Given the description of an element on the screen output the (x, y) to click on. 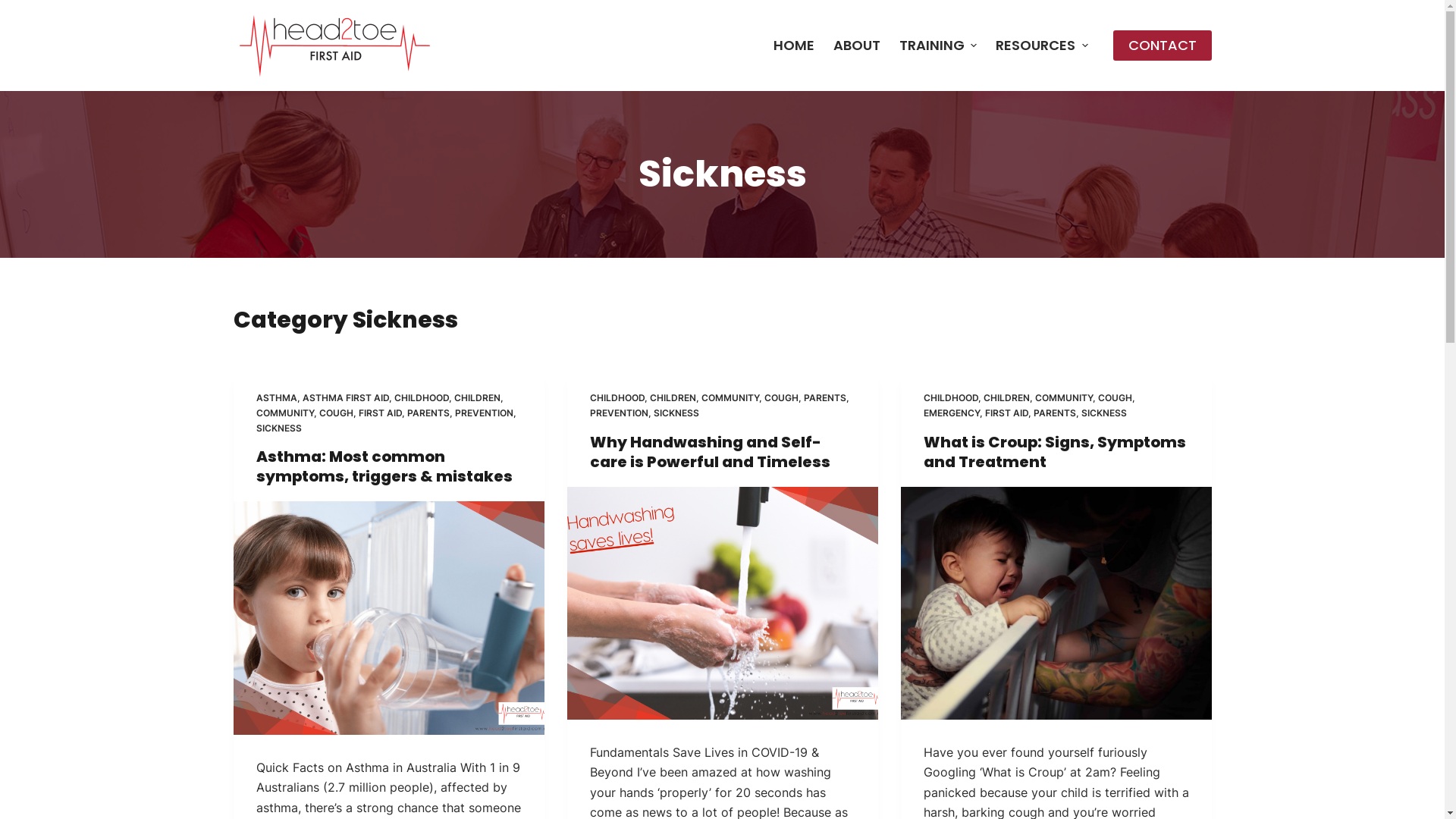
CONTACT Element type: text (1162, 45)
What is Croup: Signs, Symptoms and Treatment Element type: text (1054, 451)
Why Handwashing and Self-care is Powerful and Timeless Element type: text (709, 451)
Asthma: Most common symptoms, triggers & mistakes Element type: text (384, 465)
CHILDHOOD Element type: text (616, 397)
CHILDREN Element type: text (672, 397)
CHILDREN Element type: text (1005, 397)
SICKNESS Element type: text (676, 412)
CHILDREN Element type: text (476, 397)
PREVENTION Element type: text (484, 412)
SICKNESS Element type: text (1103, 412)
TRAINING Element type: text (937, 45)
COMMUNITY Element type: text (729, 397)
PARENTS Element type: text (427, 412)
PARENTS Element type: text (1053, 412)
FIRST AID Element type: text (1005, 412)
PREVENTION Element type: text (618, 412)
RESOURCES Element type: text (1042, 45)
ASTHMA Element type: text (276, 397)
SICKNESS Element type: text (278, 427)
COUGH Element type: text (1115, 397)
COMMUNITY Element type: text (284, 412)
COUGH Element type: text (335, 412)
EMERGENCY Element type: text (951, 412)
FIRST AID Element type: text (379, 412)
ASTHMA FIRST AID Element type: text (344, 397)
Skip to content Element type: text (15, 7)
PARENTS Element type: text (824, 397)
COUGH Element type: text (781, 397)
CHILDHOOD Element type: text (421, 397)
COMMUNITY Element type: text (1063, 397)
CHILDHOOD Element type: text (950, 397)
ABOUT Element type: text (856, 45)
HOME Element type: text (793, 45)
